Given the description of an element on the screen output the (x, y) to click on. 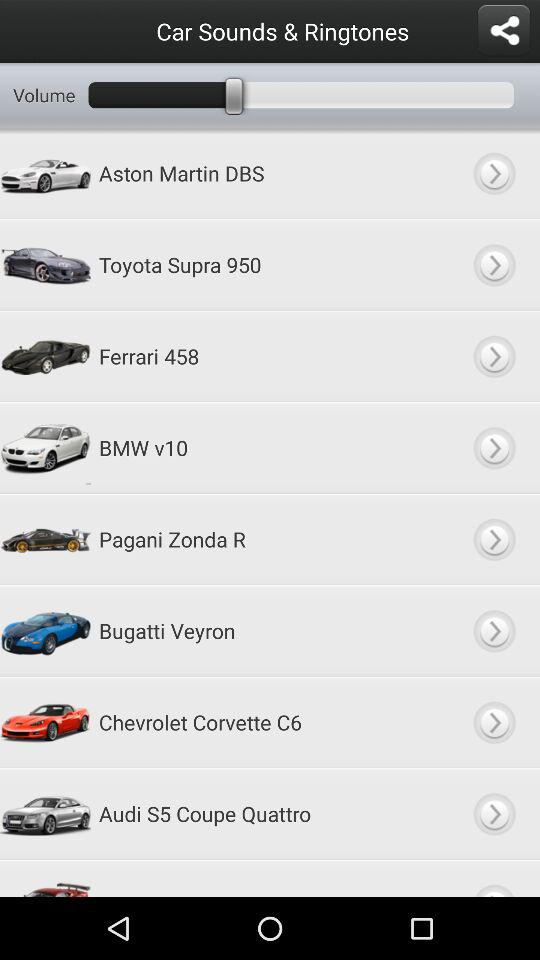
go forward option (494, 539)
